Given the description of an element on the screen output the (x, y) to click on. 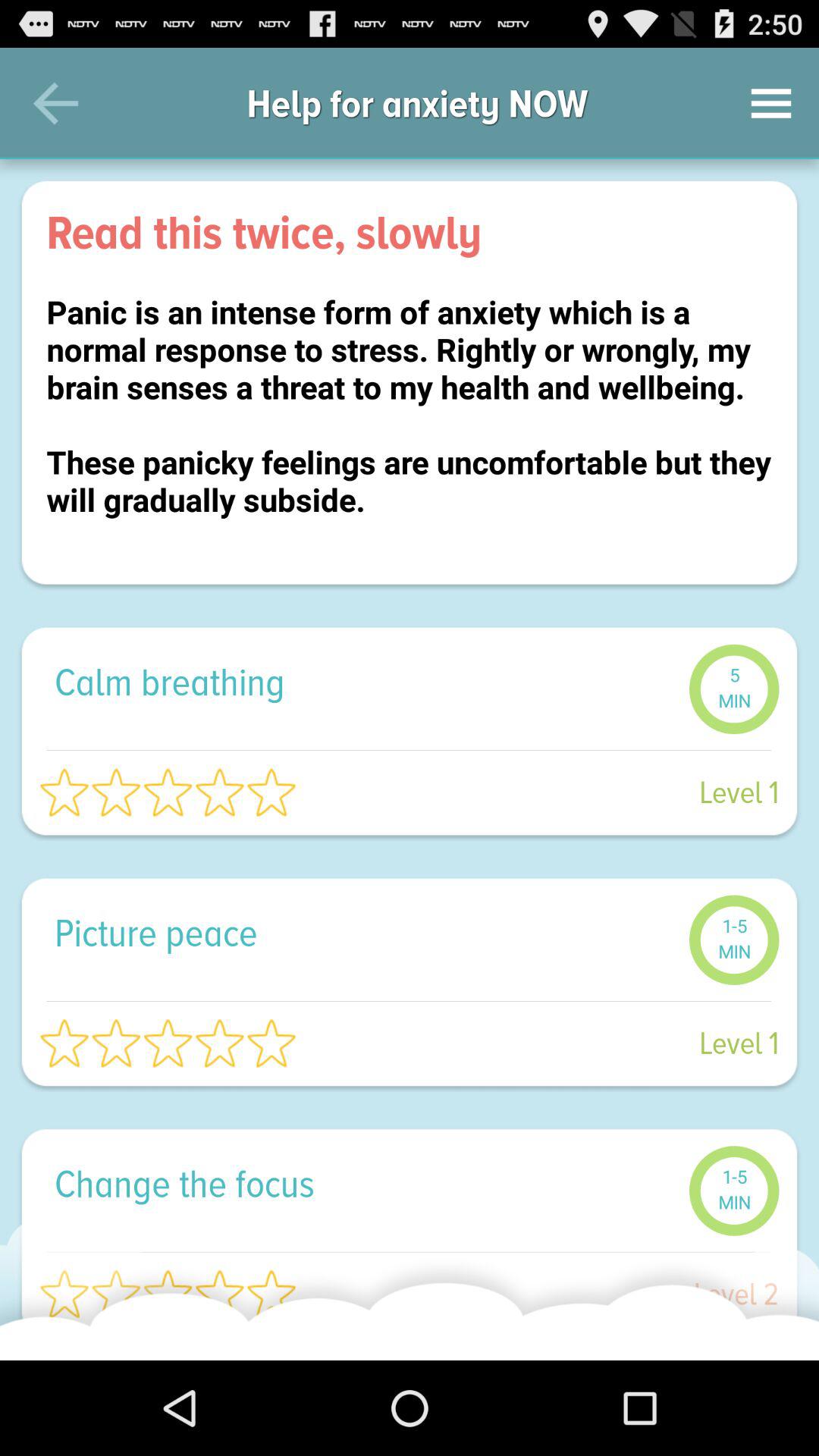
choose icon next to the help for anxiety item (771, 103)
